Given the description of an element on the screen output the (x, y) to click on. 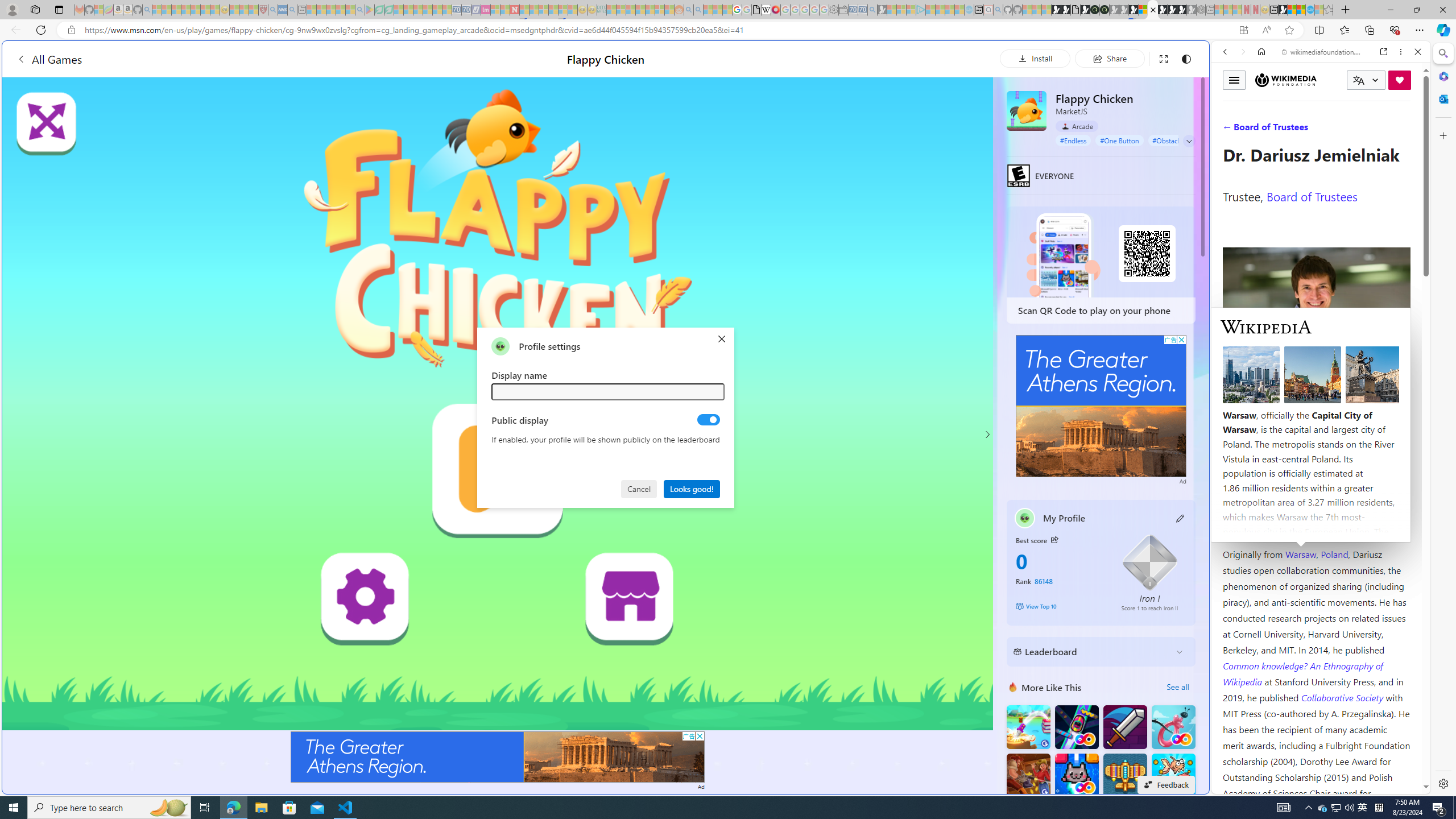
Wikimedia Foundation (1285, 79)
Bumper Car FRVR (1076, 726)
Looks good! (691, 488)
Balloon FRVR (1173, 726)
Services - Maintenance | Sky Blue Bikes - Sky Blue Bikes (1309, 9)
